Given the description of an element on the screen output the (x, y) to click on. 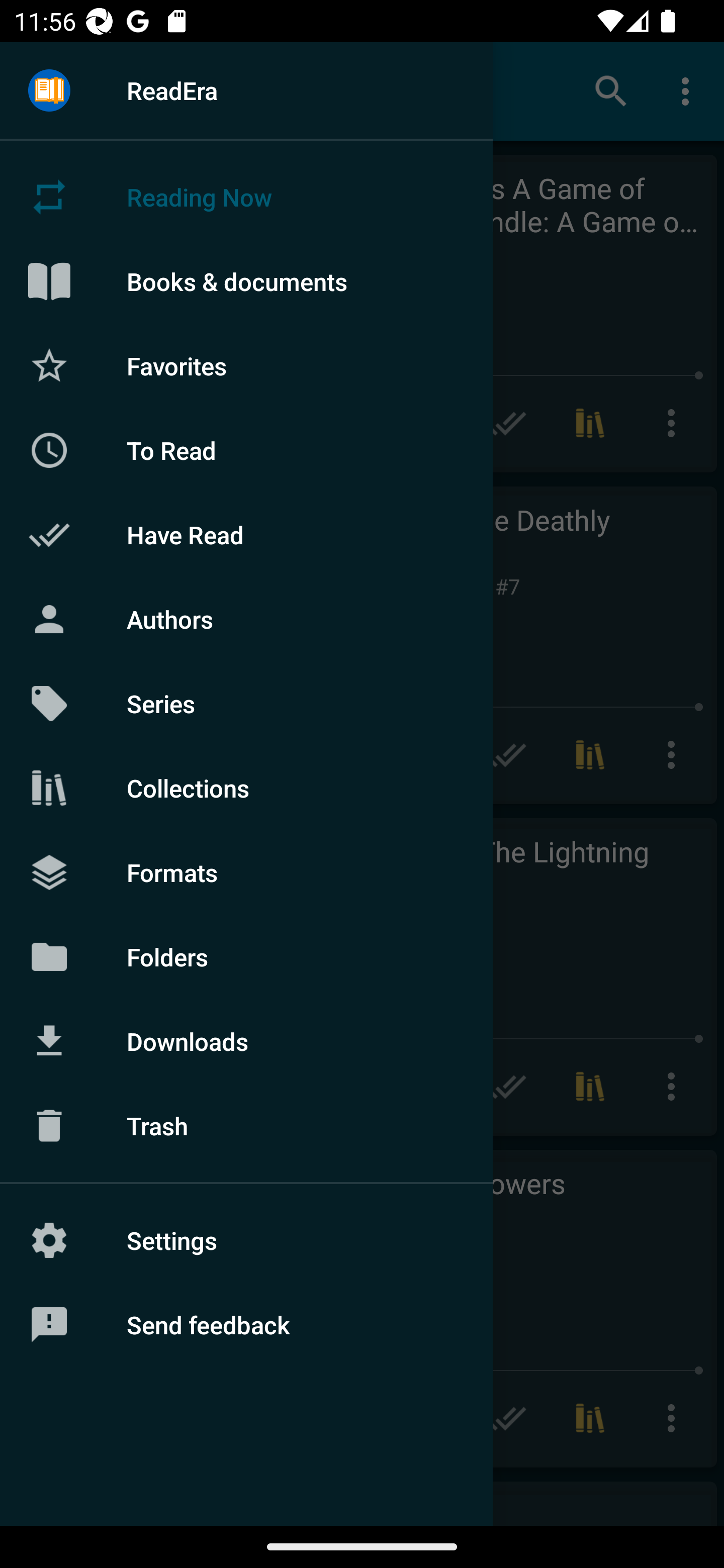
Menu (49, 91)
ReadEra (246, 89)
Search books & documents (611, 90)
More options (688, 90)
Reading Now (246, 197)
Books & documents (246, 281)
Favorites (246, 365)
To Read (246, 449)
Have Read (246, 534)
Authors (246, 619)
Series (246, 703)
Collections (246, 787)
Formats (246, 871)
Folders (246, 956)
Downloads (246, 1040)
Trash (246, 1125)
Settings (246, 1239)
Send feedback (246, 1324)
